Given the description of an element on the screen output the (x, y) to click on. 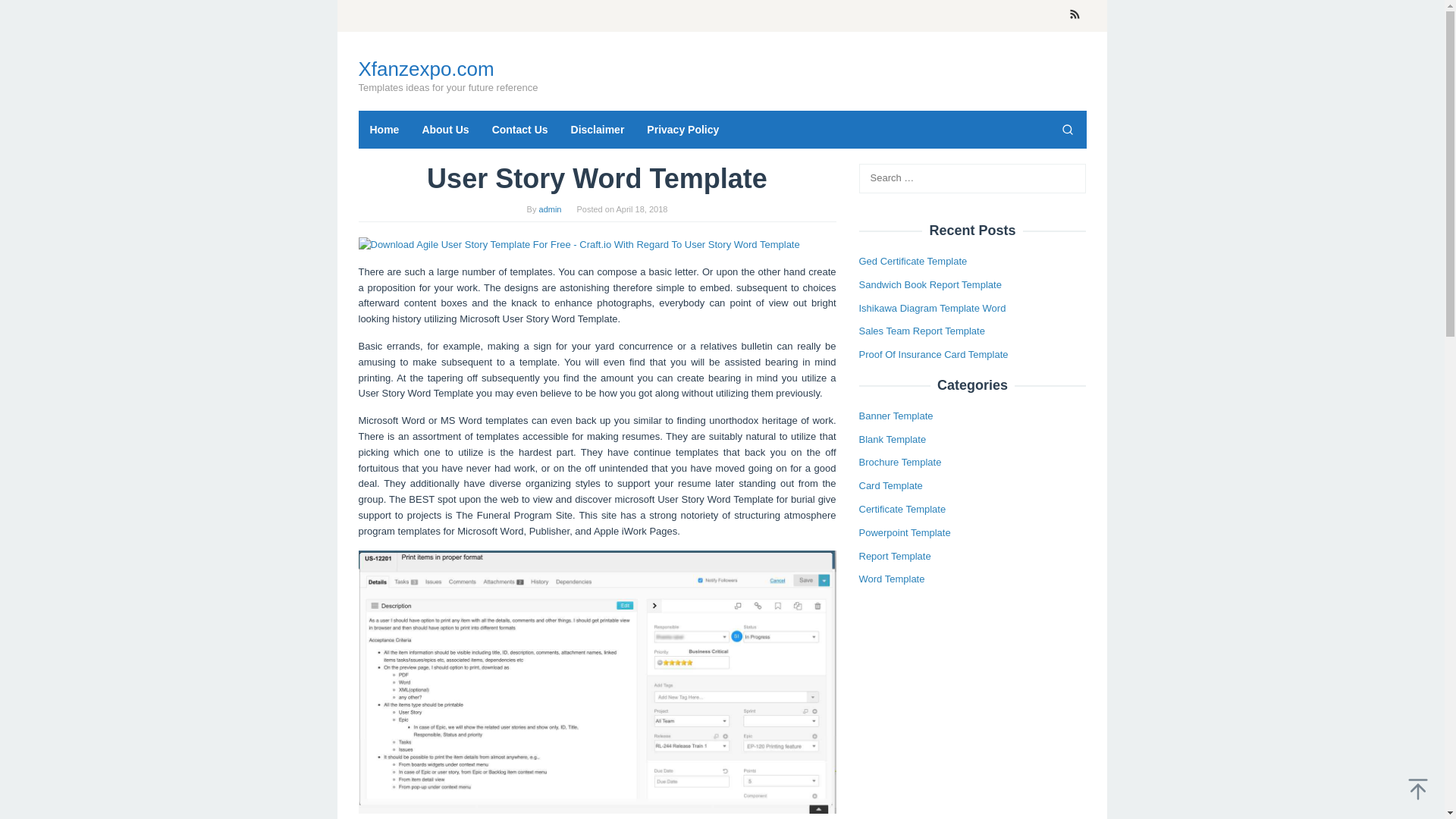
Xfanzexpo.com (425, 68)
Search (1067, 129)
Permalink to: admin (550, 208)
Ishikawa Diagram Template Word (932, 307)
Contact Us (519, 129)
About Us (445, 129)
Xfanzexpo.com (425, 68)
Privacy Policy (682, 129)
Disclaimer (597, 129)
Sandwich Book Report Template (930, 284)
Search (26, 14)
Home (384, 129)
